Given the description of an element on the screen output the (x, y) to click on. 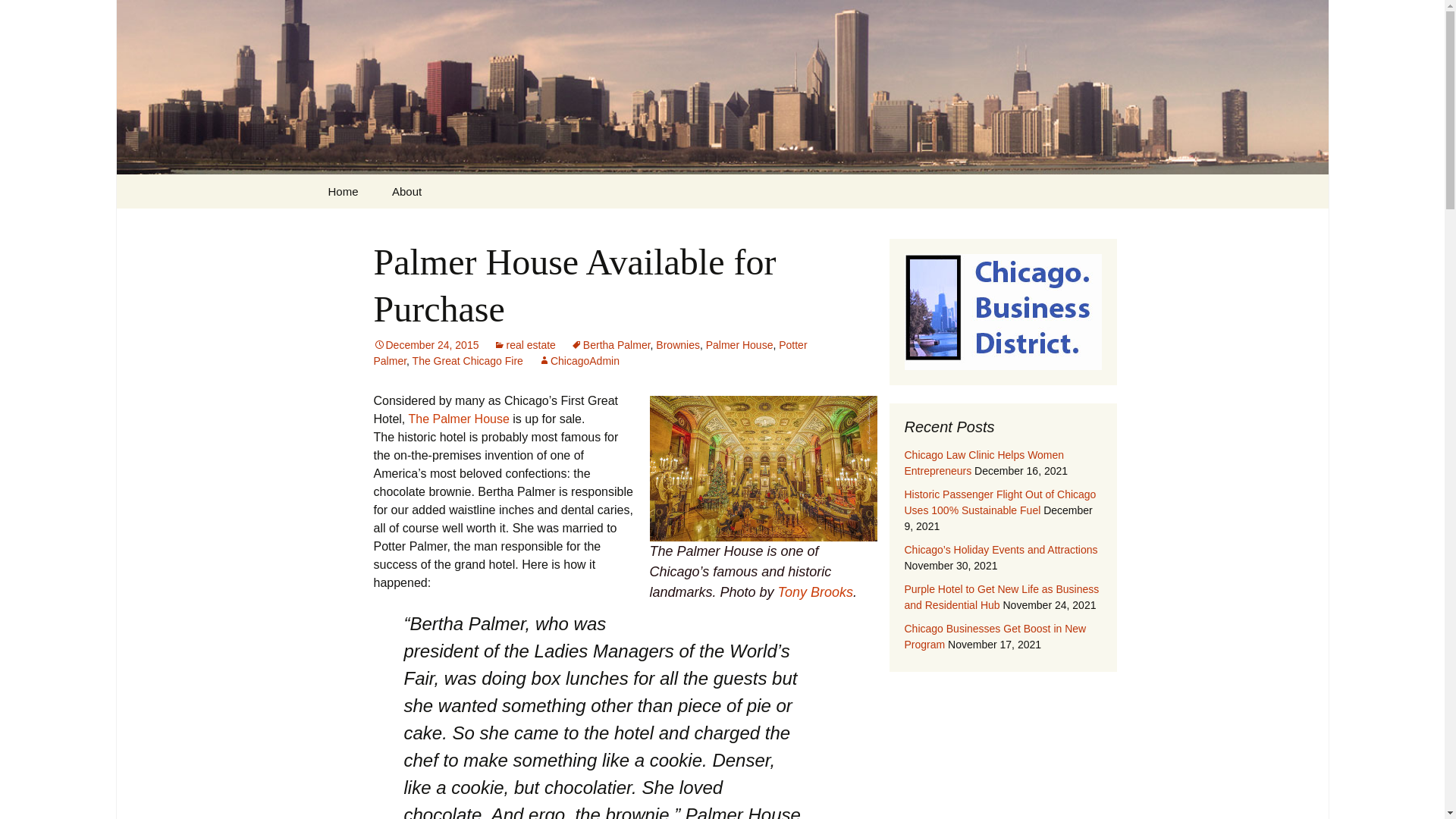
Home (342, 191)
Search (34, 15)
The Palmer House (457, 418)
Chicago Law Clinic Helps Women Entrepreneurs (984, 462)
ChicagoAdmin (579, 360)
Palmer House (739, 345)
Permalink to Palmer House Available for Purchase (425, 345)
December 24, 2015 (425, 345)
Bertha Palmer (610, 345)
real estate (523, 345)
Purple Hotel to Get New Life as Business and Residential Hub (1001, 596)
Search (18, 15)
Chicago Businesses Get Boost in New Program (995, 636)
